Given the description of an element on the screen output the (x, y) to click on. 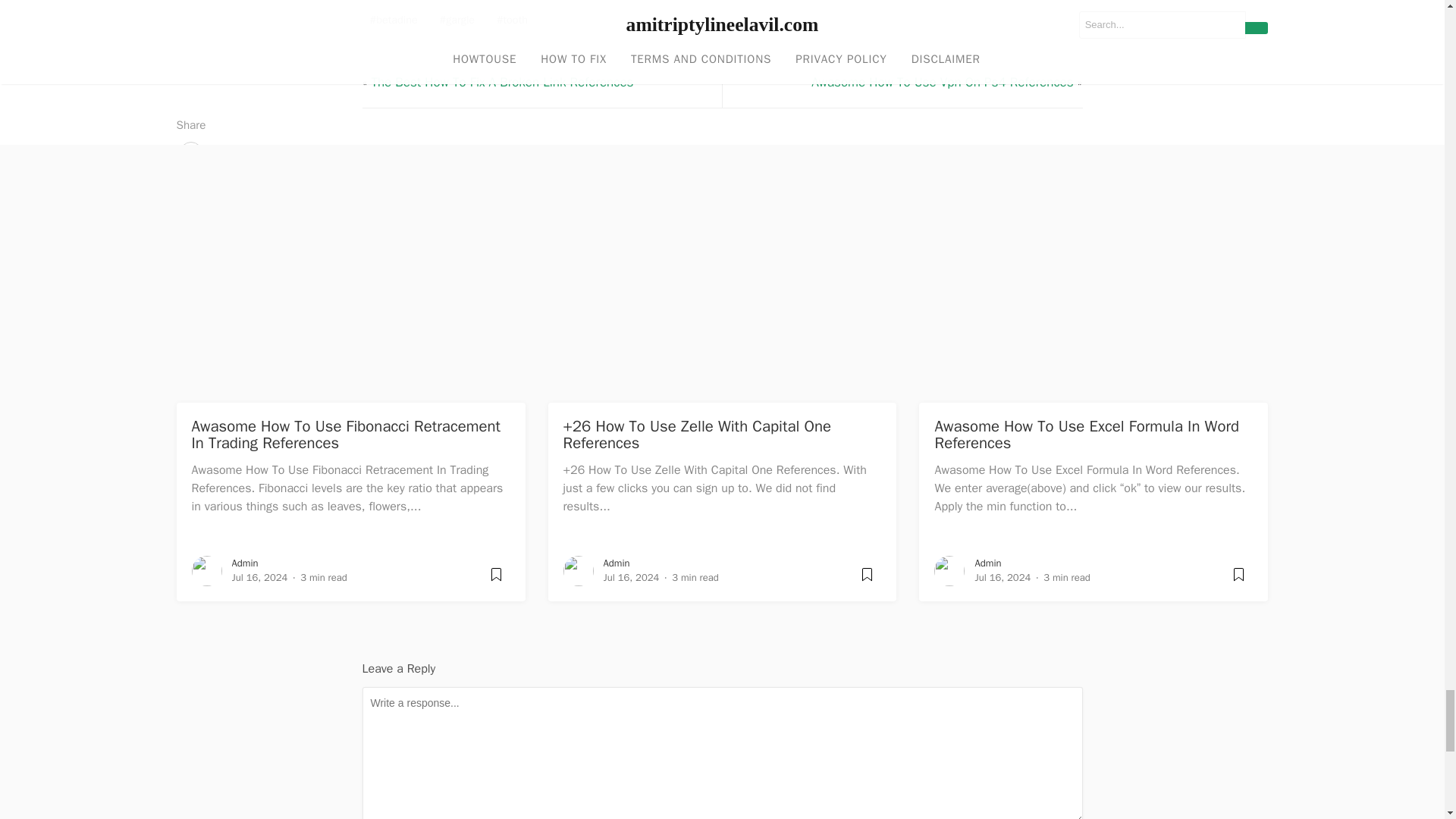
The Best How To Fix A Broken Link References (502, 82)
Awasome How To Use Vpn On Ps4 References (941, 82)
Admin (245, 562)
